Given the description of an element on the screen output the (x, y) to click on. 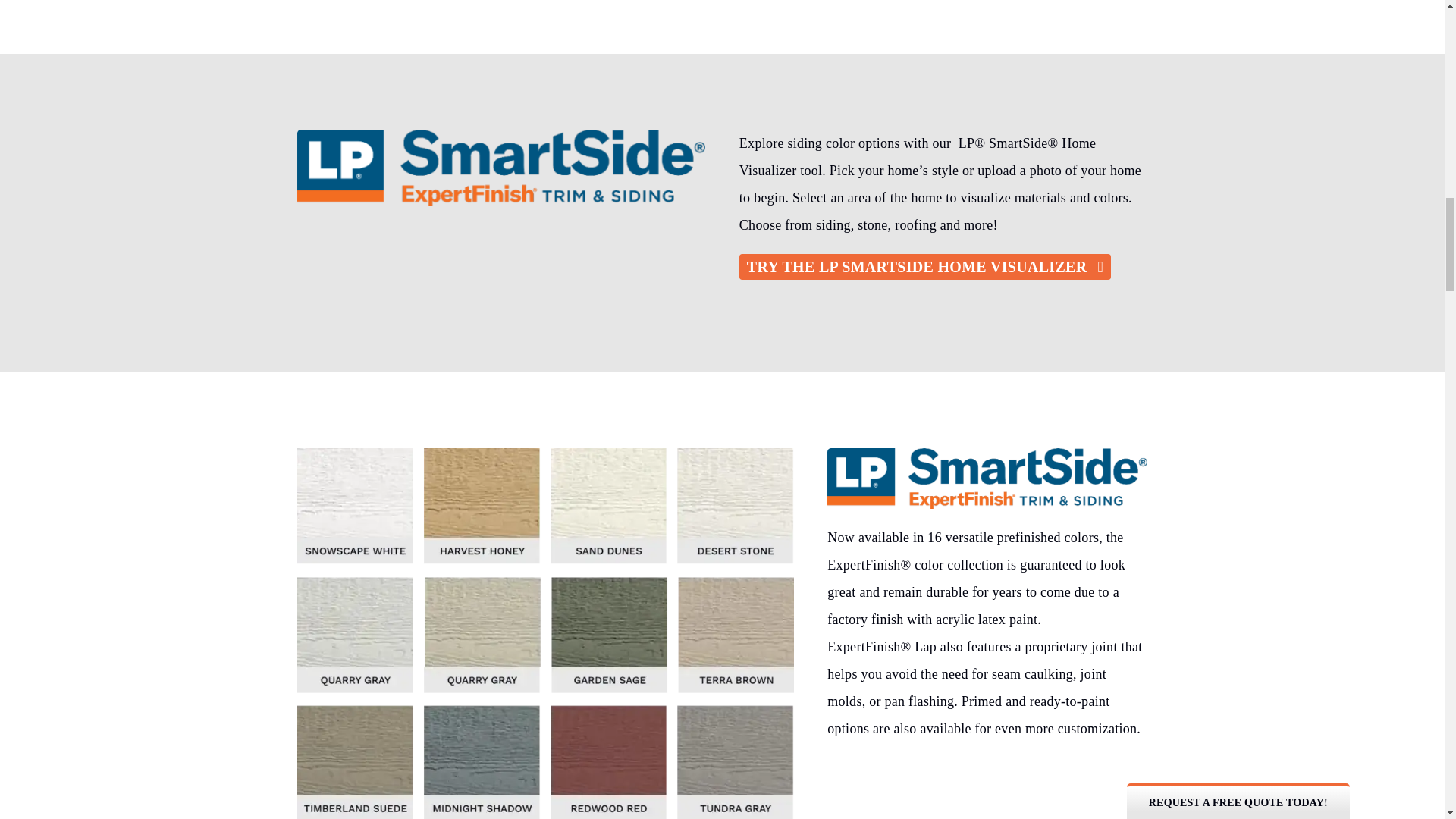
TRY THE LP SMARTSIDE HOME VISUALIZER (924, 266)
